Given the description of an element on the screen output the (x, y) to click on. 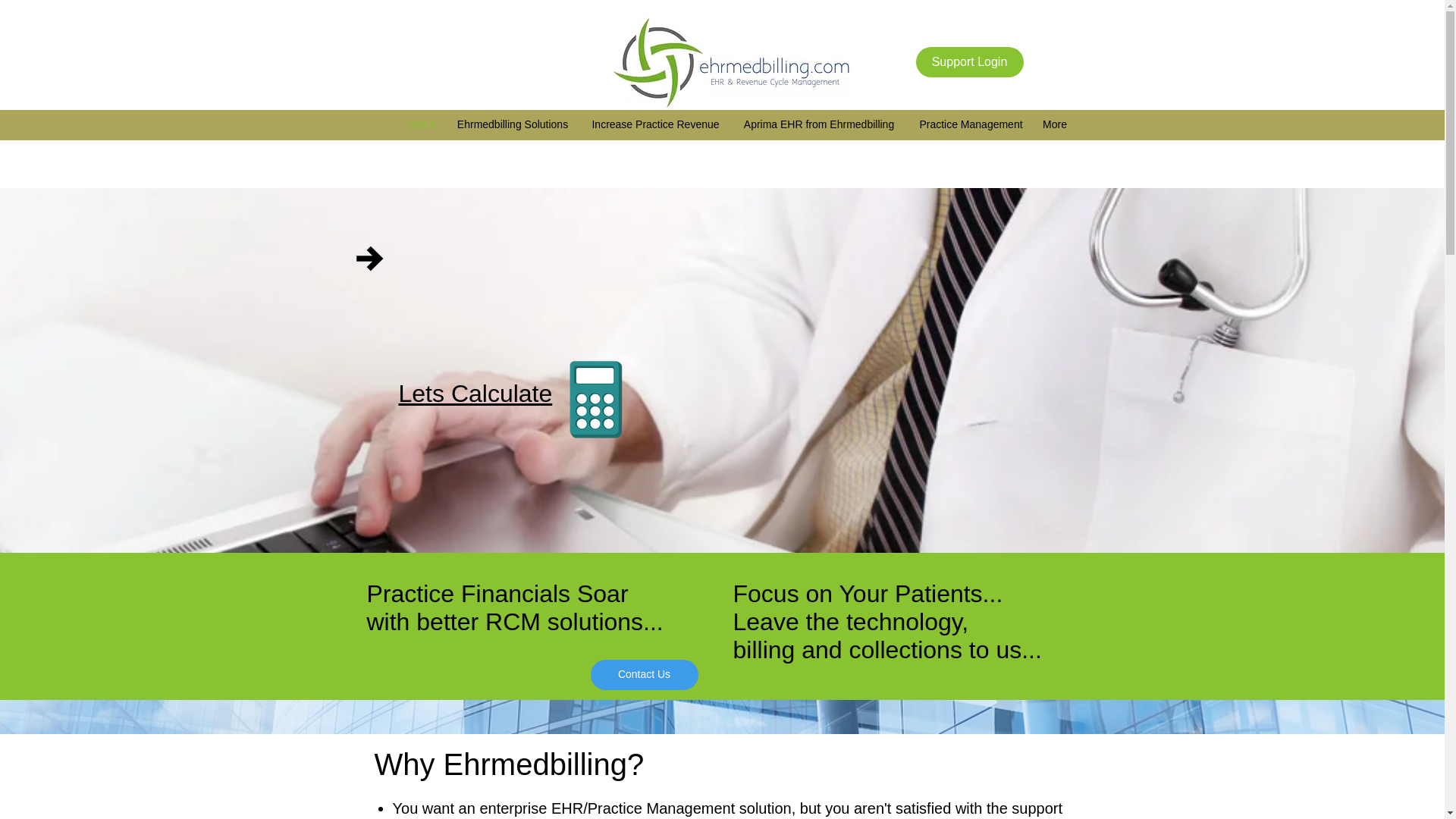
Ehrmedbilling Solutions (512, 124)
Lets Calculate (475, 393)
Increase Practice Revenue (654, 124)
Support Login (969, 61)
Home (421, 124)
Practice Management (970, 124)
Aprima EHR from Ehrmedbilling (818, 124)
